Given the description of an element on the screen output the (x, y) to click on. 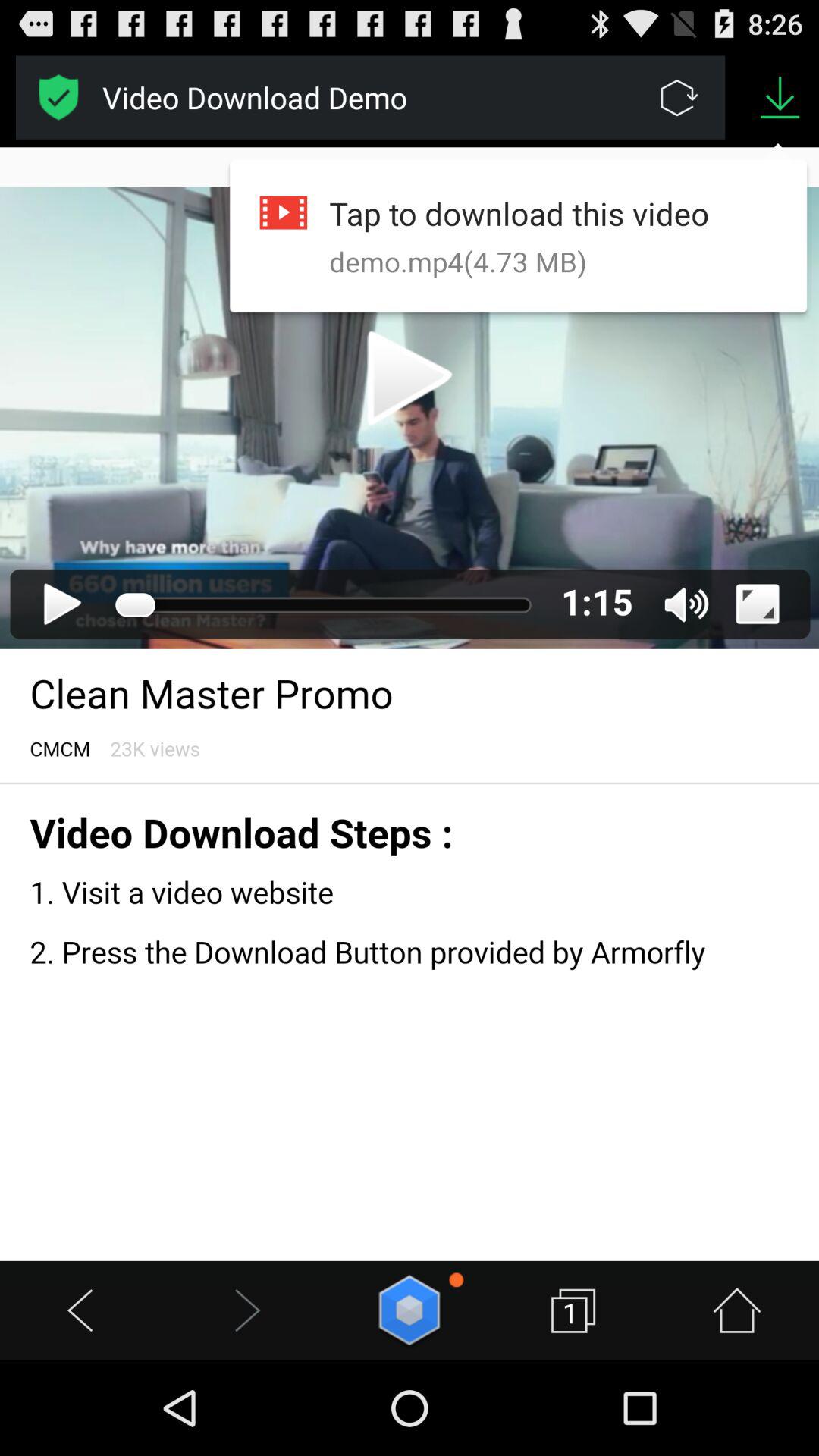
select page (59, 97)
